Given the description of an element on the screen output the (x, y) to click on. 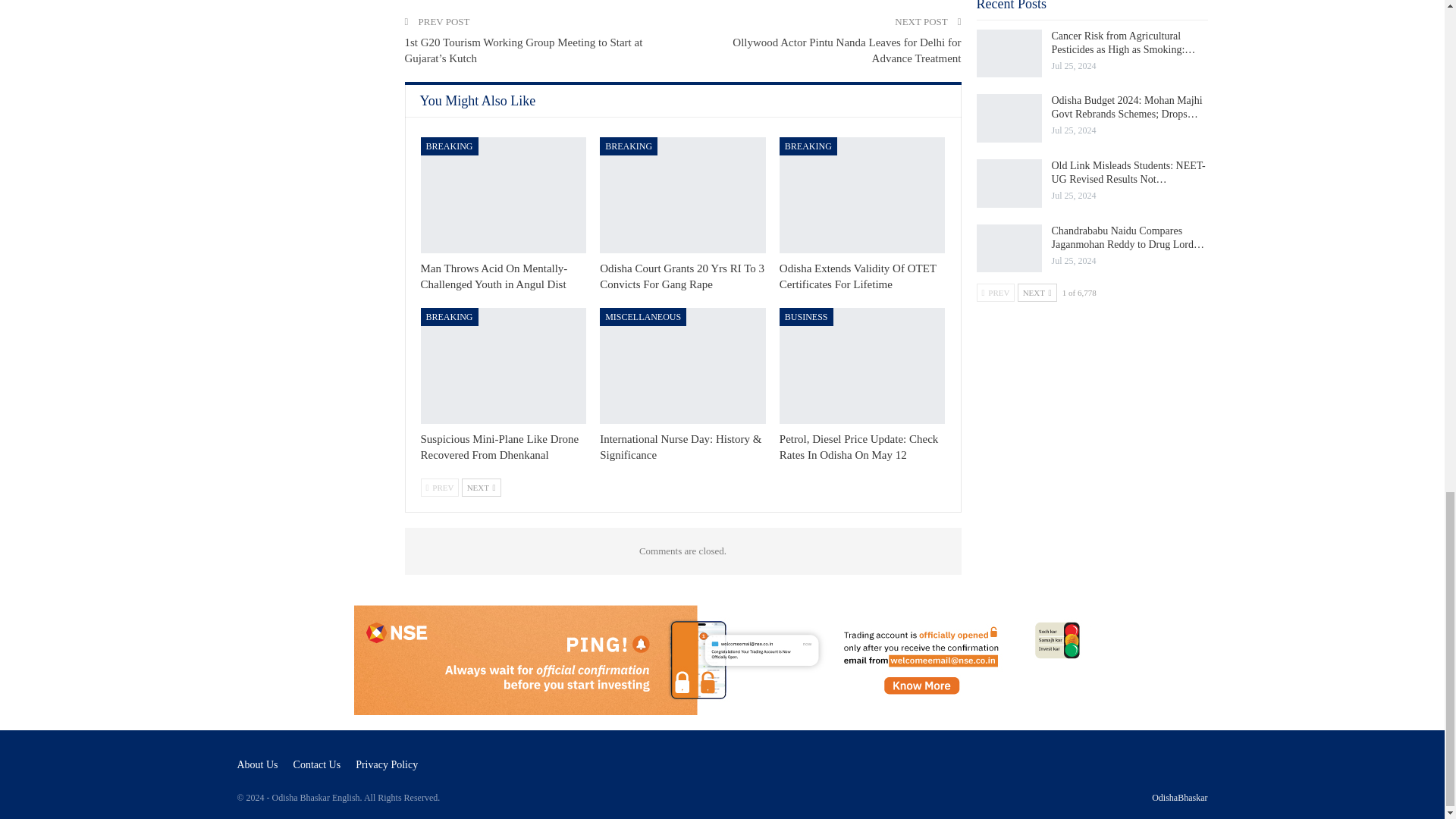
Odisha Court Grants 20 Yrs RI To 3 Convicts For Gang Rape (681, 276)
Petrol, Diesel Price Update: Check Rates In Odisha On May 12 (861, 365)
Odisha Court Grants 20 Yrs RI To 3 Convicts For Gang Rape (682, 195)
Suspicious Mini-Plane Like Drone Recovered From Dhenkanal (499, 447)
Suspicious Mini-Plane Like Drone Recovered From Dhenkanal (503, 365)
Odisha Extends Validity Of OTET Certificates For Lifetime (861, 195)
Man Throws Acid On Mentally-Challenged Youth in Angul Dist (493, 276)
Man Throws Acid On Mentally-Challenged Youth in Angul Dist (503, 195)
Odisha Extends Validity Of OTET Certificates For Lifetime (857, 276)
